Given the description of an element on the screen output the (x, y) to click on. 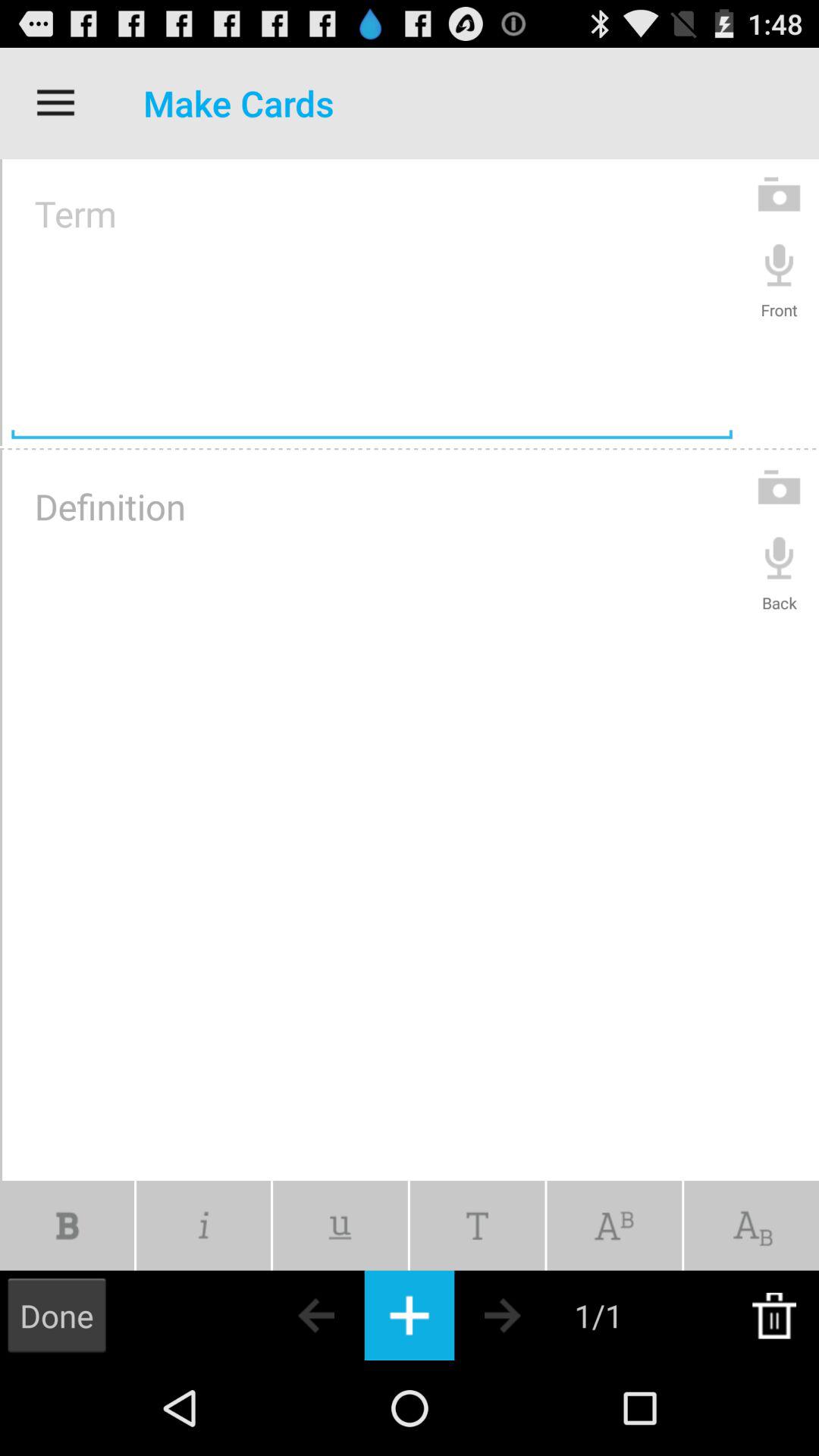
input term (371, 302)
